Given the description of an element on the screen output the (x, y) to click on. 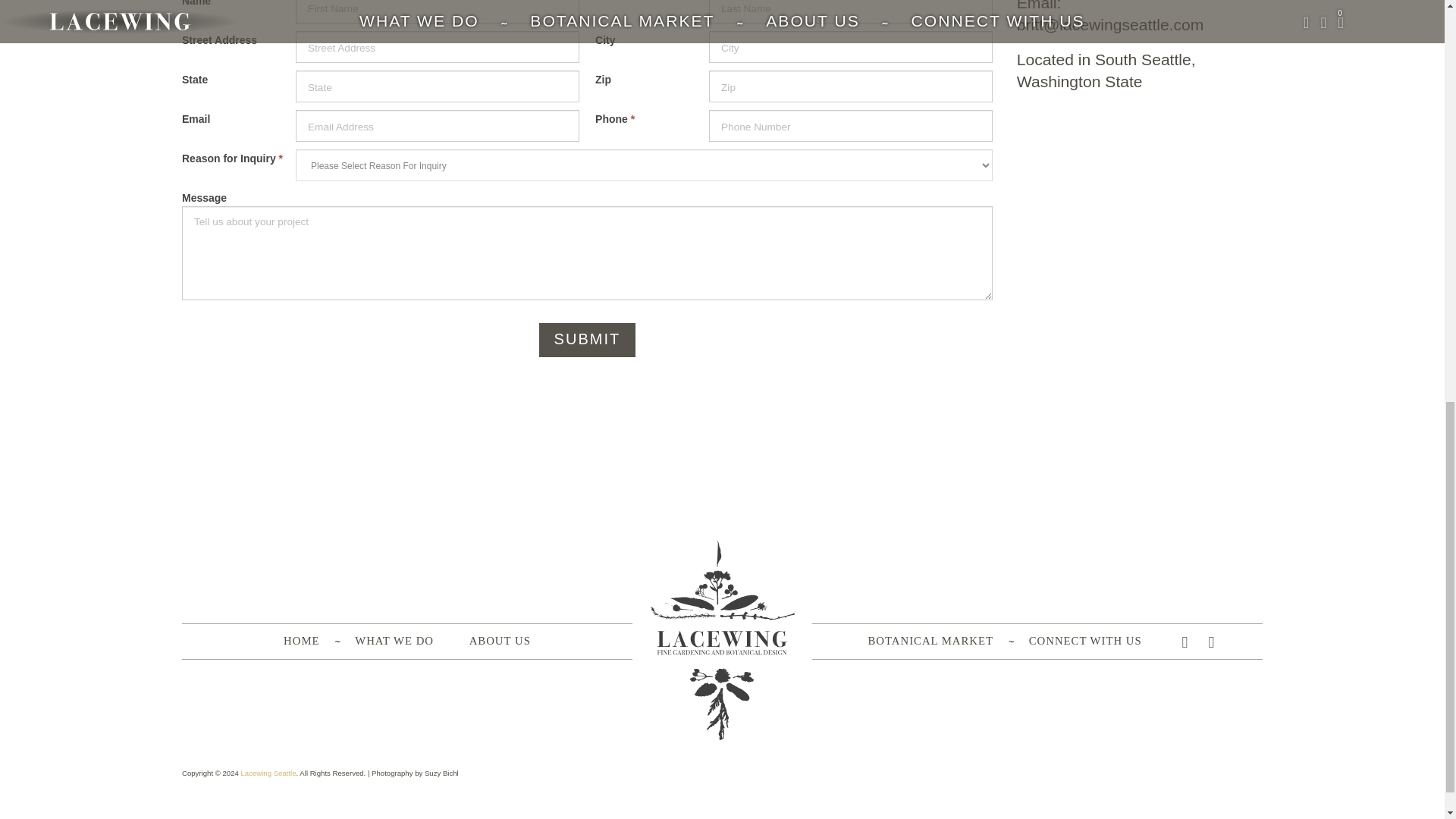
CONNECT WITH US (1085, 640)
HOME (300, 640)
BOTANICAL MARKET (929, 640)
ABOUT US (499, 640)
SUBMIT (587, 339)
Fine Gardening and Botanical Design (267, 773)
Lacewing Seattle (267, 773)
WHAT WE DO (394, 640)
